Given the description of an element on the screen output the (x, y) to click on. 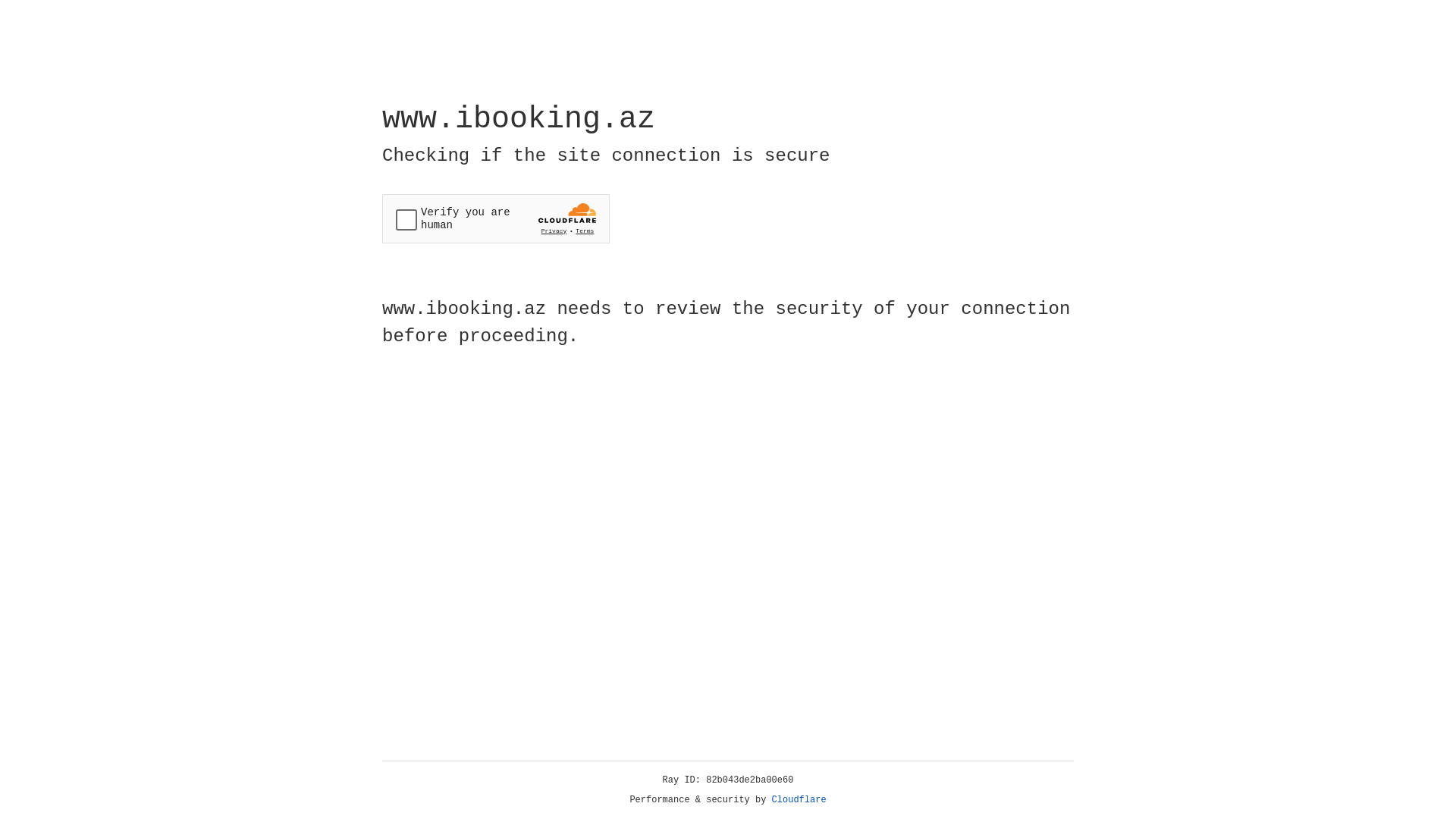
Widget containing a Cloudflare security challenge Element type: hover (495, 218)
Cloudflare Element type: text (798, 799)
